Given the description of an element on the screen output the (x, y) to click on. 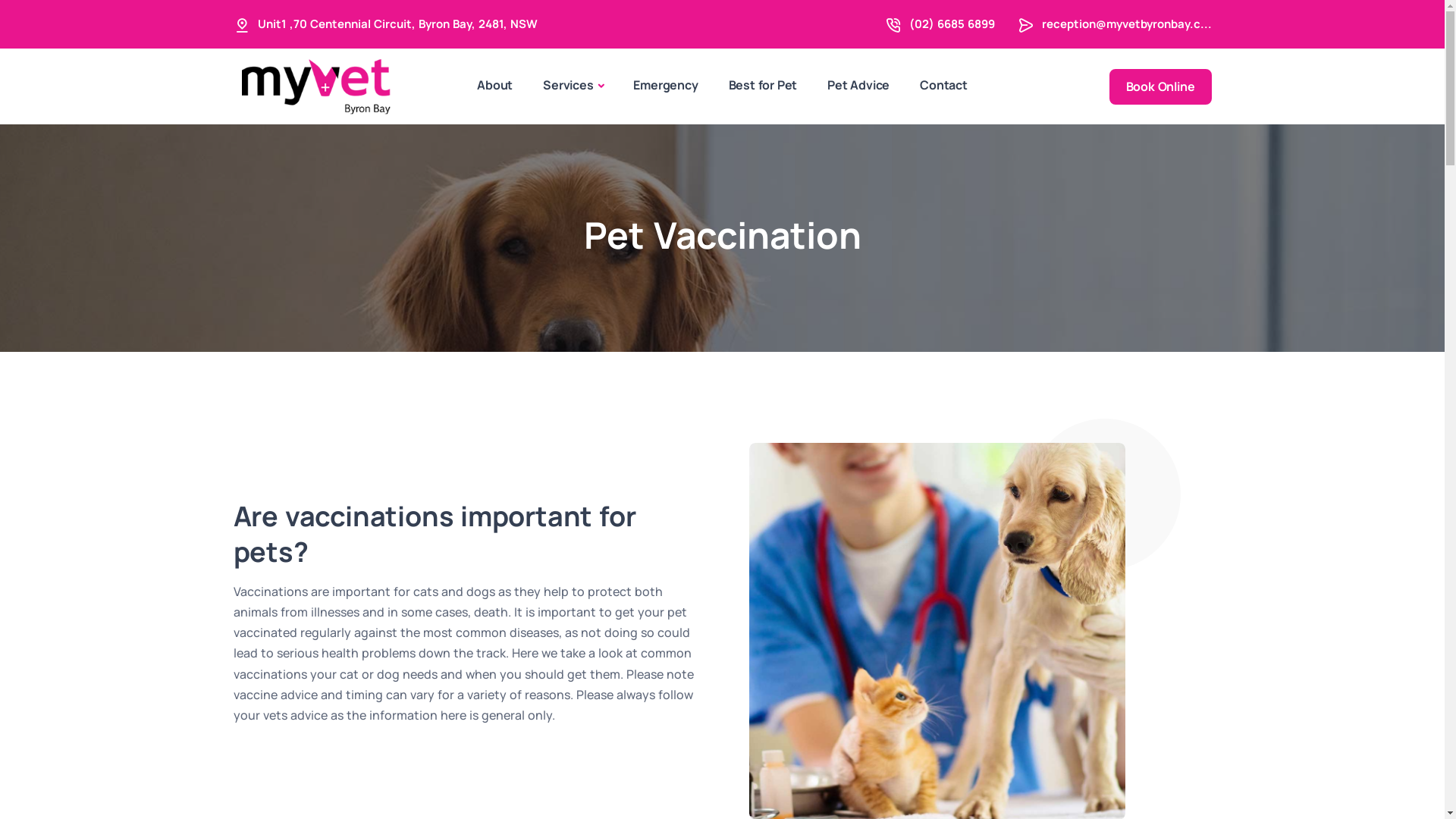
Book Online Element type: text (1160, 86)
Best for Pet Element type: text (762, 84)
About Element type: text (494, 84)
Emergency Element type: text (665, 84)
Pet Advice Element type: text (858, 84)
Unit1 ,70 Centennial Circuit, Byron Bay, 2481, NSW Element type: text (397, 23)
reception@myvetbyronbay.c... Element type: text (1126, 23)
Contact Element type: text (943, 84)
(02) 6685 6899 Element type: text (951, 23)
Services Element type: text (572, 86)
